Given the description of an element on the screen output the (x, y) to click on. 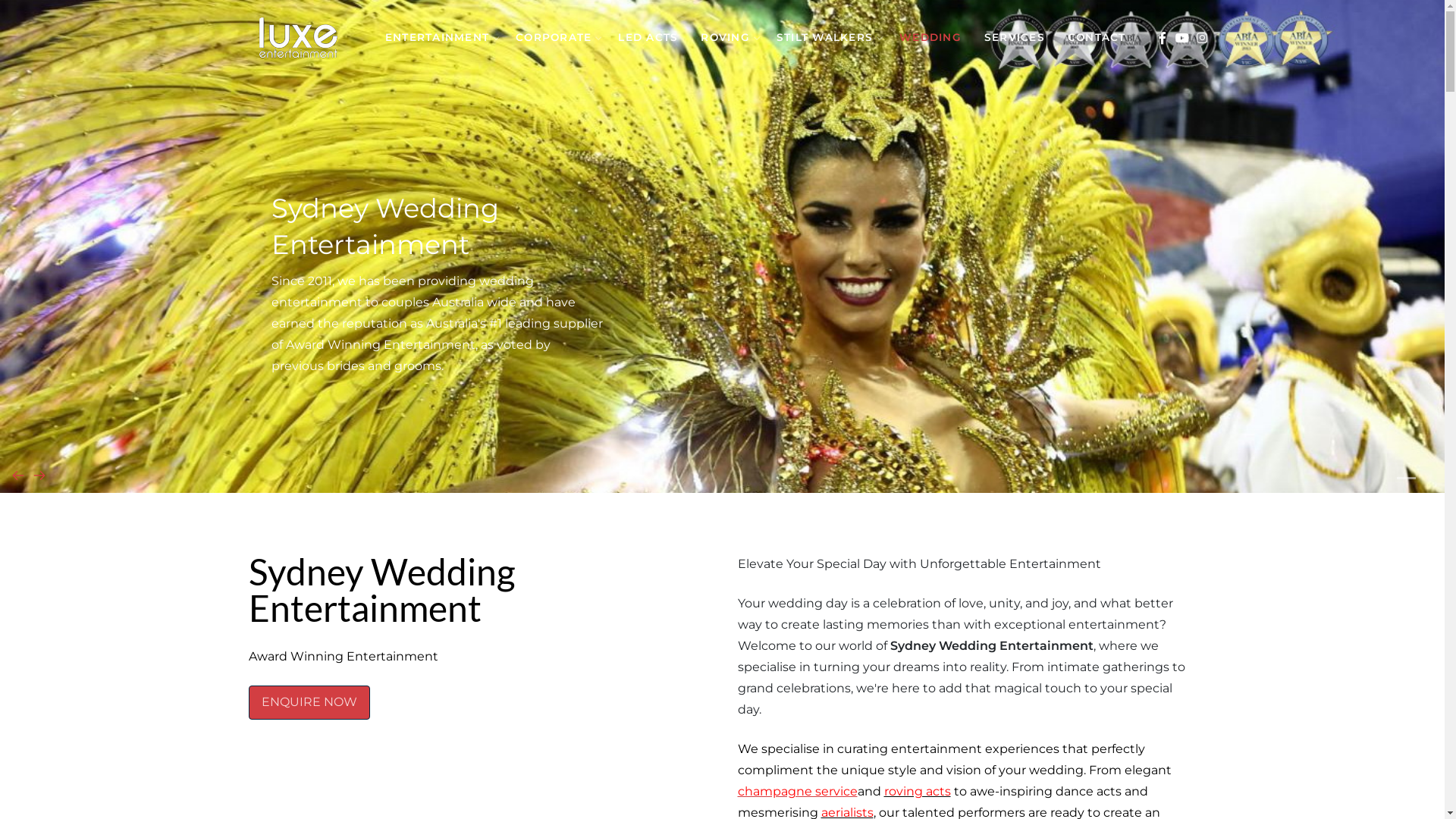
Facebook Element type: text (1161, 37)
champagne service Element type: text (796, 791)
Luxe Entertainment Element type: hover (297, 37)
Youtube Element type: text (1181, 37)
ROVING Element type: text (726, 36)
roving acts Element type: text (917, 791)
CONTACT Element type: text (1096, 36)
WEDDING Element type: text (930, 36)
Instagram Element type: text (1201, 37)
ENQUIRE NOW Element type: text (309, 702)
SERVICES Element type: text (1014, 36)
LED ACTS Element type: text (647, 36)
